Given the description of an element on the screen output the (x, y) to click on. 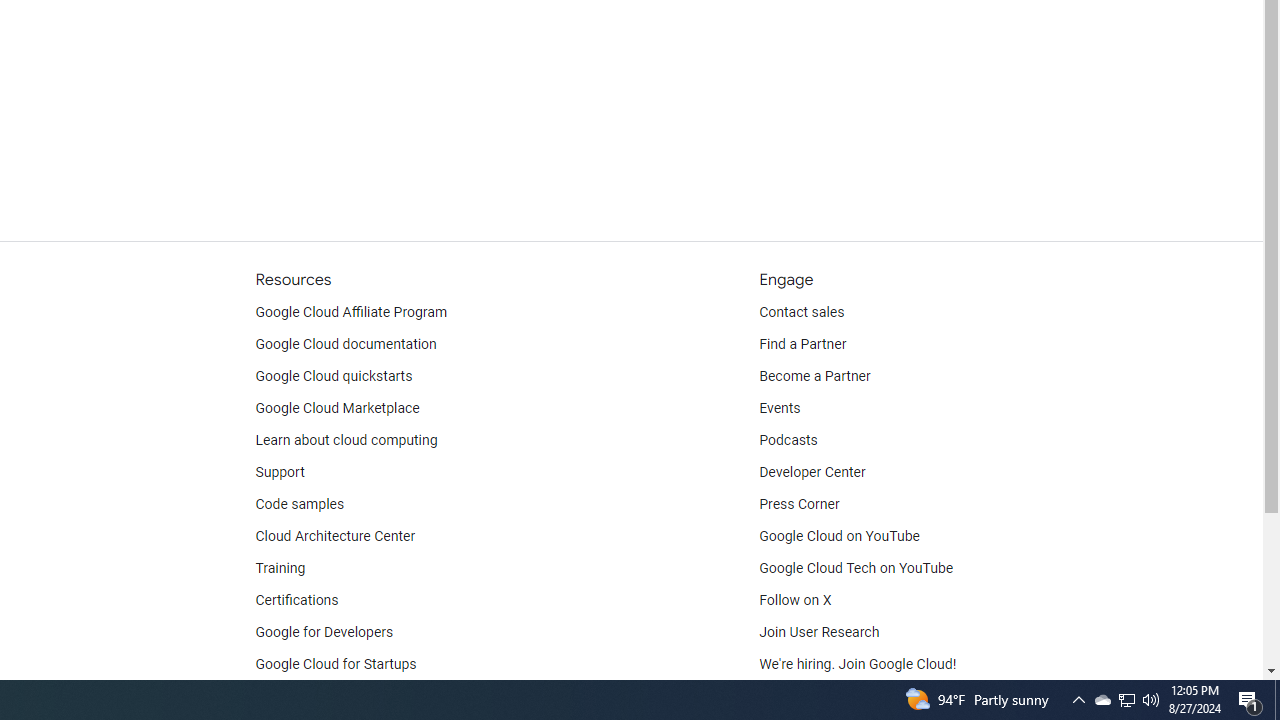
Certifications (296, 600)
Press Corner (799, 504)
Google Cloud for Startups (335, 664)
Contact sales (801, 312)
Google for Developers (324, 632)
Learn about cloud computing (345, 440)
Become a Partner (814, 376)
Training (279, 568)
Code samples (299, 504)
Developer Center (812, 472)
